Given the description of an element on the screen output the (x, y) to click on. 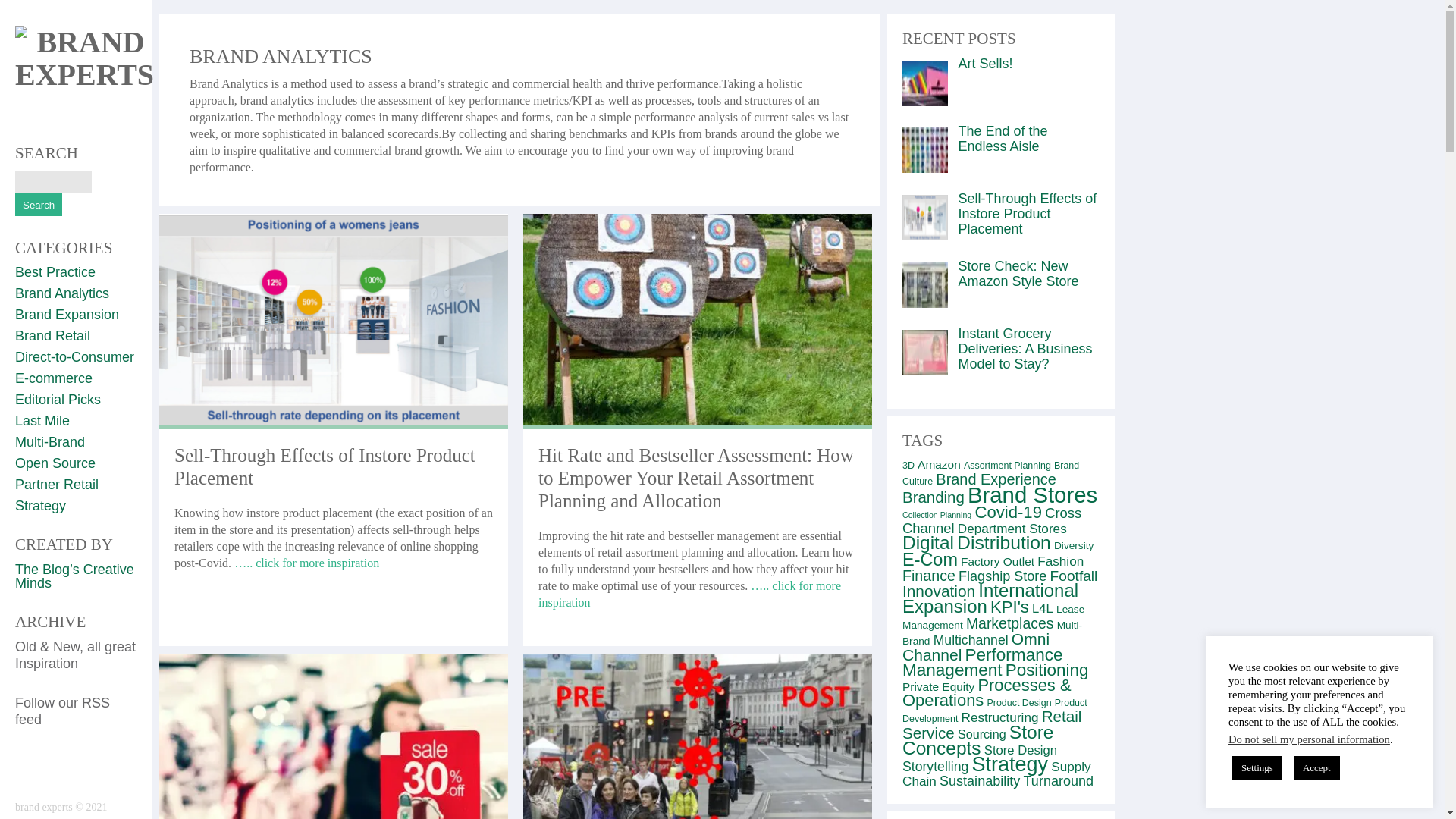
Art Sells! (985, 63)
Brand Experience (996, 478)
Open Source (55, 462)
Strategy (39, 505)
E-commerce (53, 378)
Partner Retail (56, 484)
Brand Expansion (66, 314)
Store Check: New Amazon Style Store (1018, 273)
Sell-Through Effects of Instore Product Placement (304, 562)
Brand Stores (1032, 494)
Last Mile (41, 420)
Sell-Through Effects of Instore Product Placement (1027, 213)
Search (38, 204)
Instant Grocery Deliveries: A Business Model to Stay? (1025, 348)
